Given the description of an element on the screen output the (x, y) to click on. 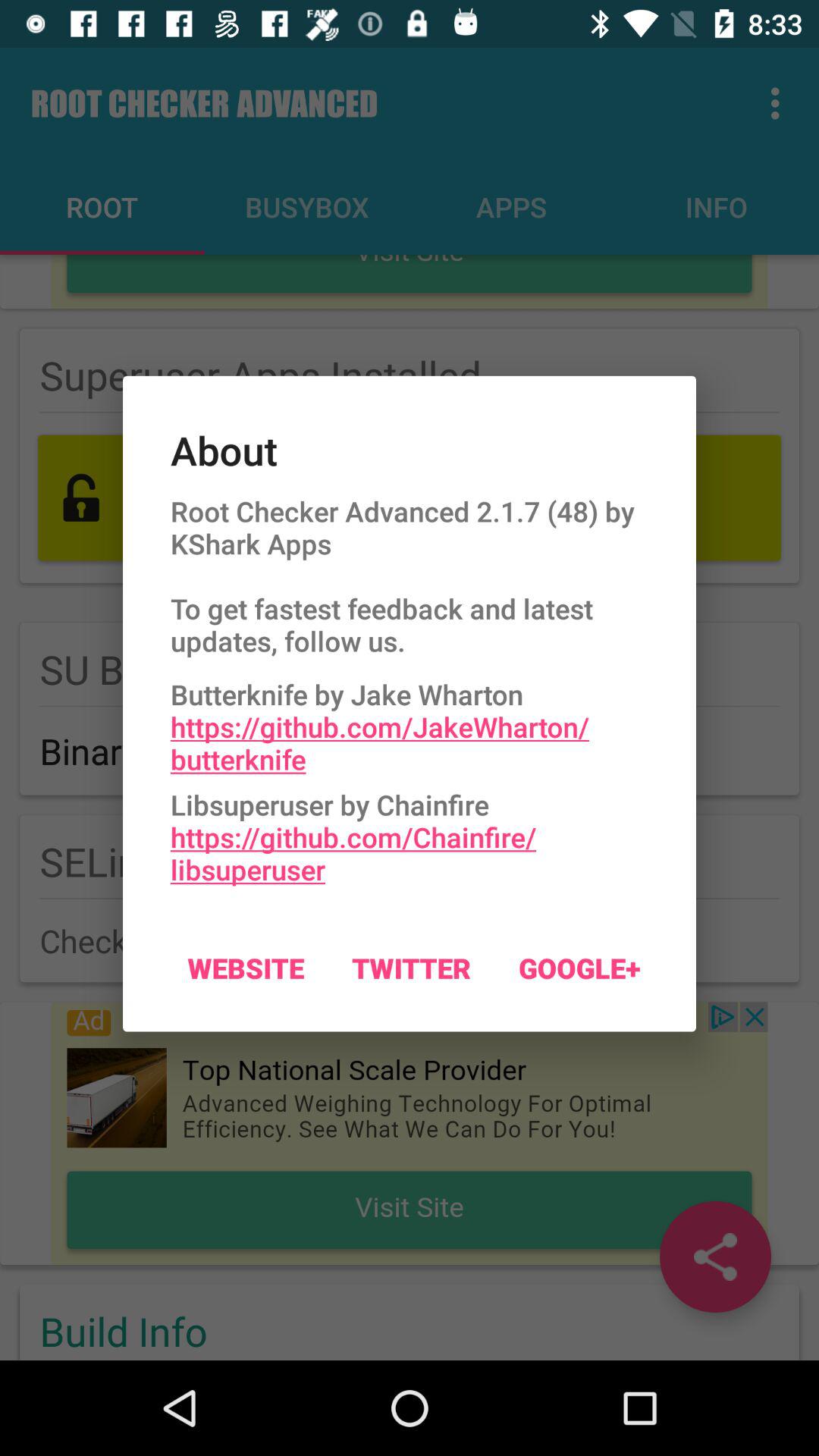
scroll to the twitter icon (411, 967)
